Given the description of an element on the screen output the (x, y) to click on. 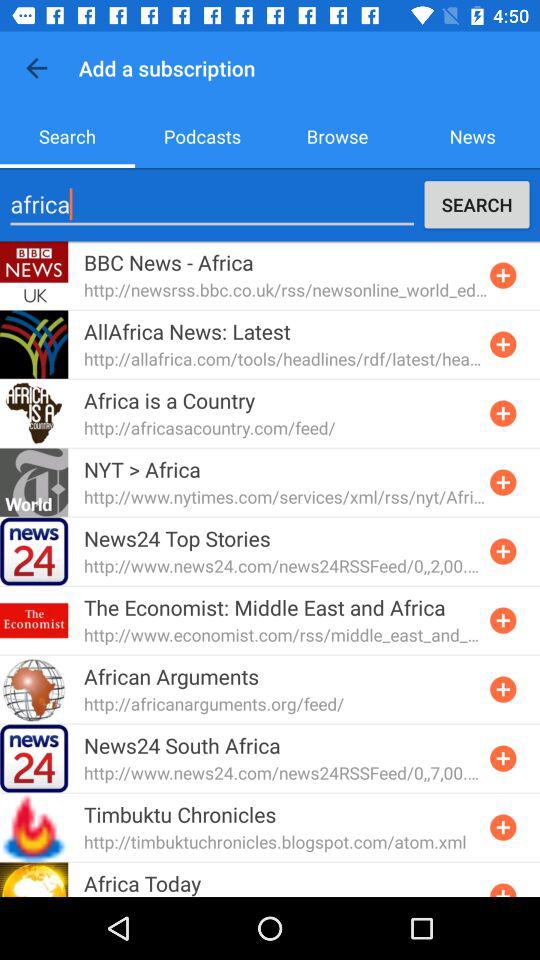
tap to expand (503, 344)
